Given the description of an element on the screen output the (x, y) to click on. 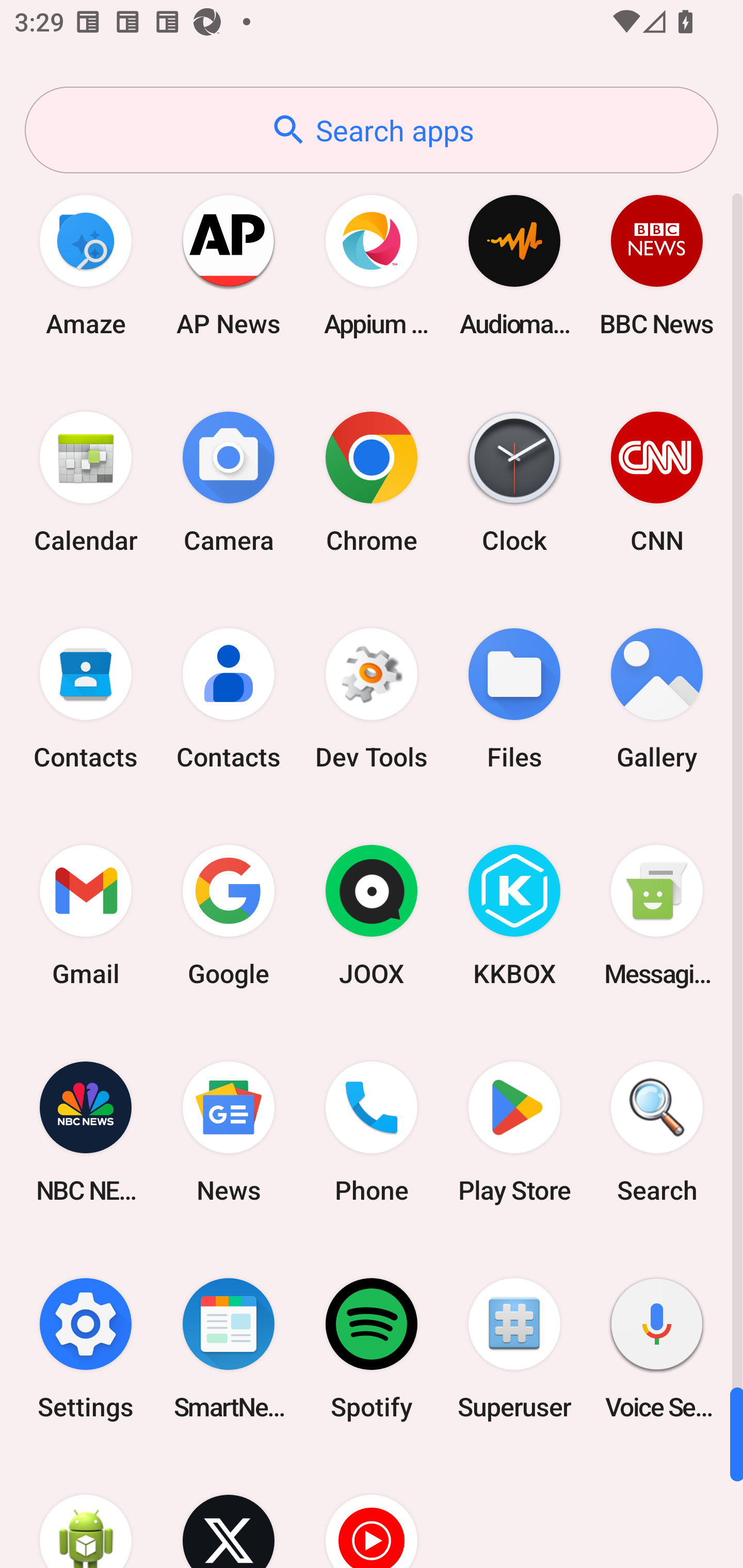
  Search apps (371, 130)
Amaze (85, 264)
AP News (228, 264)
Appium Settings (371, 264)
Audio­mack (514, 264)
BBC News (656, 264)
Calendar (85, 482)
Camera (228, 482)
Chrome (371, 482)
Clock (514, 482)
CNN (656, 482)
Contacts (85, 699)
Contacts (228, 699)
Dev Tools (371, 699)
Files (514, 699)
Gallery (656, 699)
Gmail (85, 915)
Google (228, 915)
JOOX (371, 915)
KKBOX (514, 915)
Messaging (656, 915)
NBC NEWS (85, 1131)
News (228, 1131)
Phone (371, 1131)
Play Store (514, 1131)
Search (656, 1131)
Settings (85, 1348)
SmartNews (228, 1348)
Spotify (371, 1348)
Superuser (514, 1348)
Voice Search (656, 1348)
WebView Browser Tester (85, 1512)
X (228, 1512)
YT Music (371, 1512)
